Given the description of an element on the screen output the (x, y) to click on. 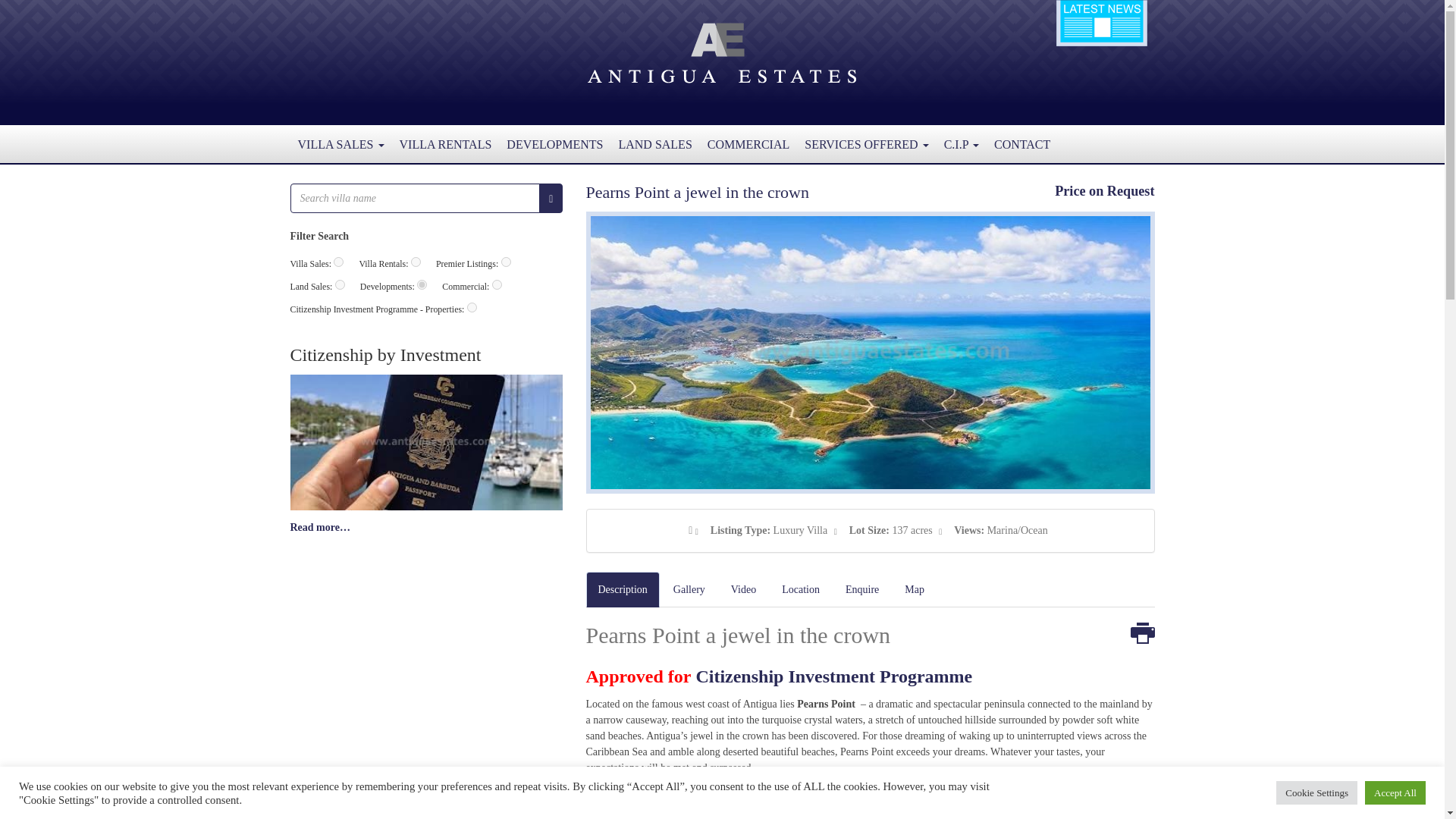
DEVELOPMENTS (554, 143)
premier-listings (505, 261)
Antigua Estates (722, 51)
commercial (497, 284)
VILLA RENTALS (445, 143)
land-sales (339, 284)
CONTACT (1022, 143)
LAND SALES (654, 143)
developments (421, 284)
cip-properties (472, 307)
antigua-real-estate-villa-sales (338, 261)
villa-rentals (415, 261)
COMMERCIAL (748, 143)
